Given the description of an element on the screen output the (x, y) to click on. 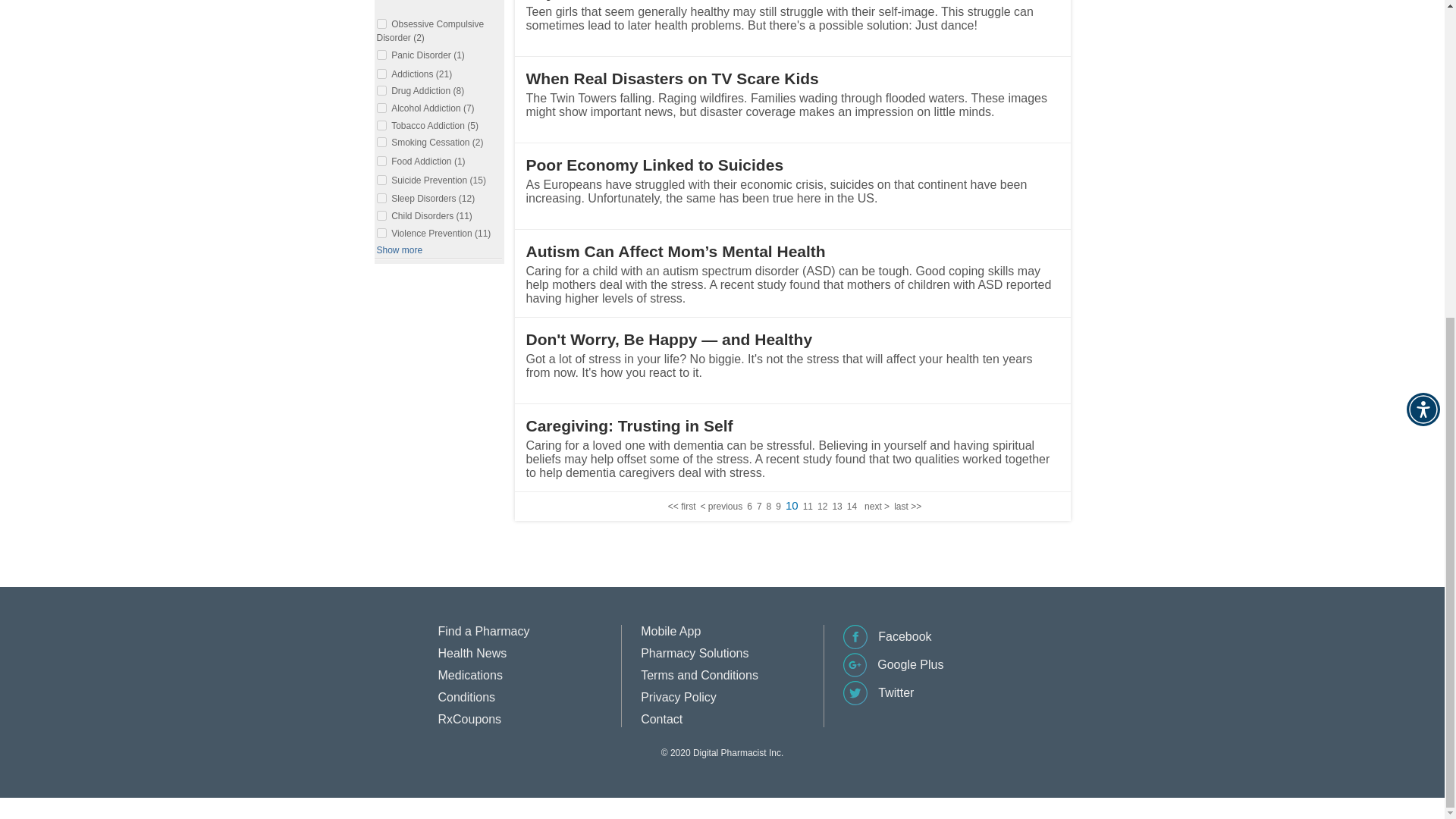
10 (791, 504)
11 (807, 506)
on (380, 23)
12 (821, 506)
on (380, 90)
on (380, 73)
on (380, 54)
